Given the description of an element on the screen output the (x, y) to click on. 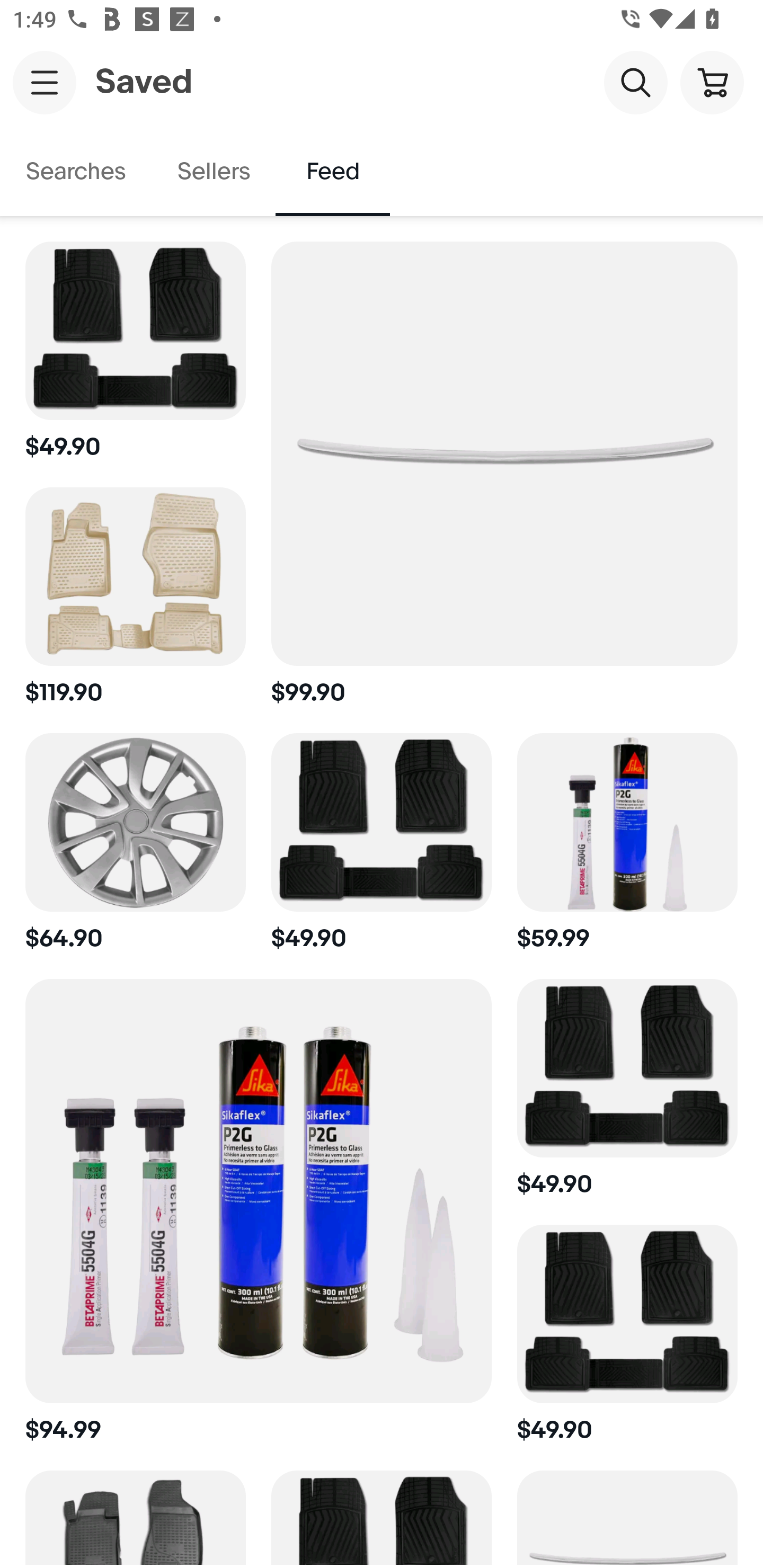
Main navigation, open (44, 82)
Search (635, 81)
Cart button shopping cart (711, 81)
Searches (75, 171)
Sellers (213, 171)
